Given the description of an element on the screen output the (x, y) to click on. 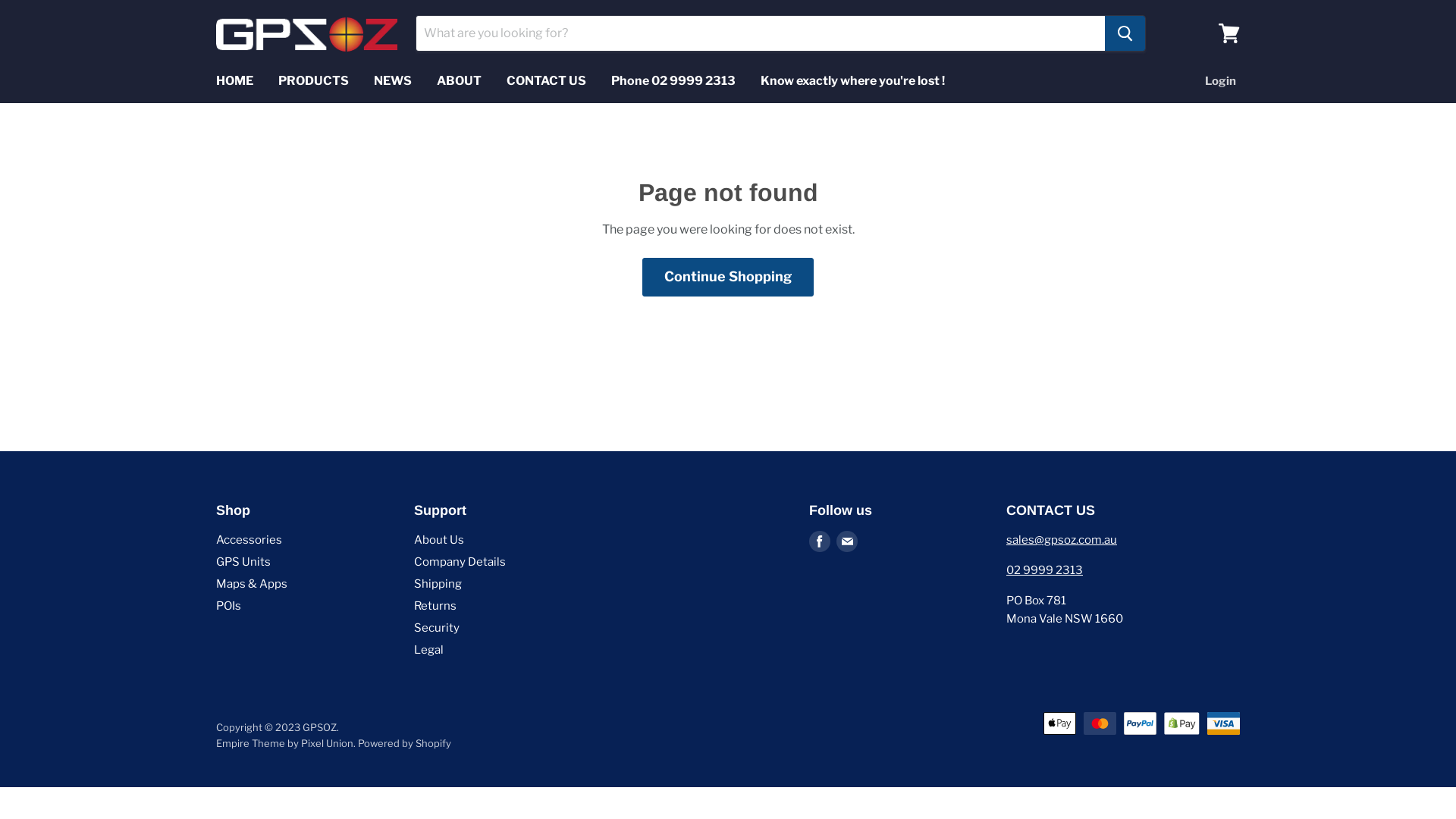
View cart Element type: text (1229, 32)
Shipping Element type: text (437, 583)
Security Element type: text (436, 627)
Powered by Shopify Element type: text (404, 743)
Legal Element type: text (428, 649)
NEWS Element type: text (392, 81)
Find us on E-mail Element type: text (845, 541)
02 9999 2313 Element type: text (1044, 570)
Phone 02 9999 2313 Element type: text (672, 81)
CONTACT US Element type: text (546, 81)
POIs Element type: text (228, 605)
Continue Shopping Element type: text (727, 276)
About Us Element type: text (439, 539)
Login Element type: text (1220, 81)
GPS Units Element type: text (243, 561)
Returns Element type: text (435, 605)
Find us on Facebook Element type: text (818, 541)
Maps & Apps Element type: text (251, 583)
sales@gpsoz.com.au Element type: text (1061, 539)
Know exactly where you're lost ! Element type: text (852, 81)
Accessories Element type: text (249, 539)
ABOUT Element type: text (458, 81)
PRODUCTS Element type: text (313, 81)
HOME Element type: text (234, 81)
Empire Theme by Pixel Union Element type: text (284, 743)
Company Details Element type: text (459, 561)
